Given the description of an element on the screen output the (x, y) to click on. 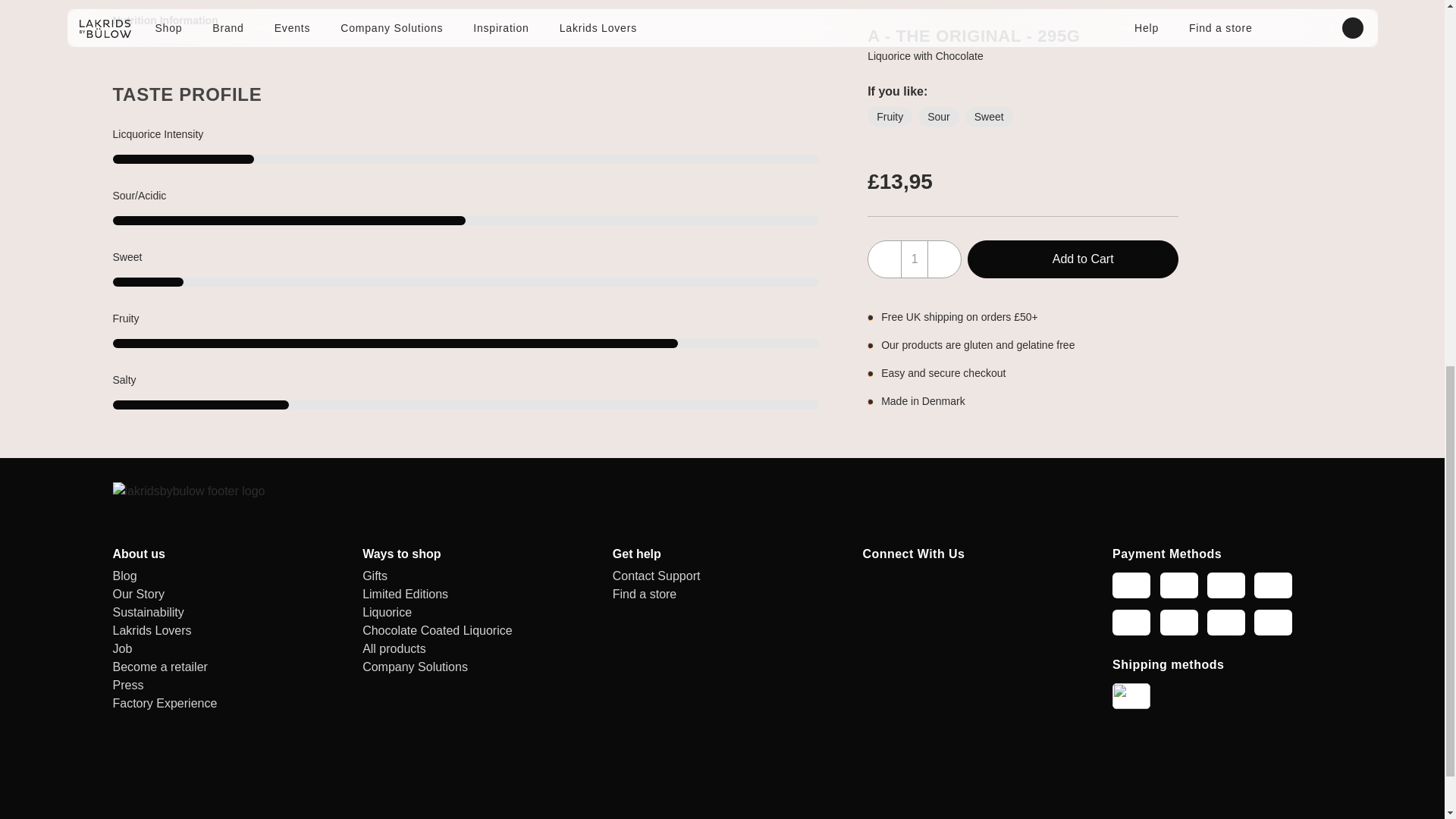
Instagram (896, 578)
Facebook (869, 578)
Youtube (971, 578)
Linkedin (920, 578)
Pinterest (947, 578)
